Given the description of an element on the screen output the (x, y) to click on. 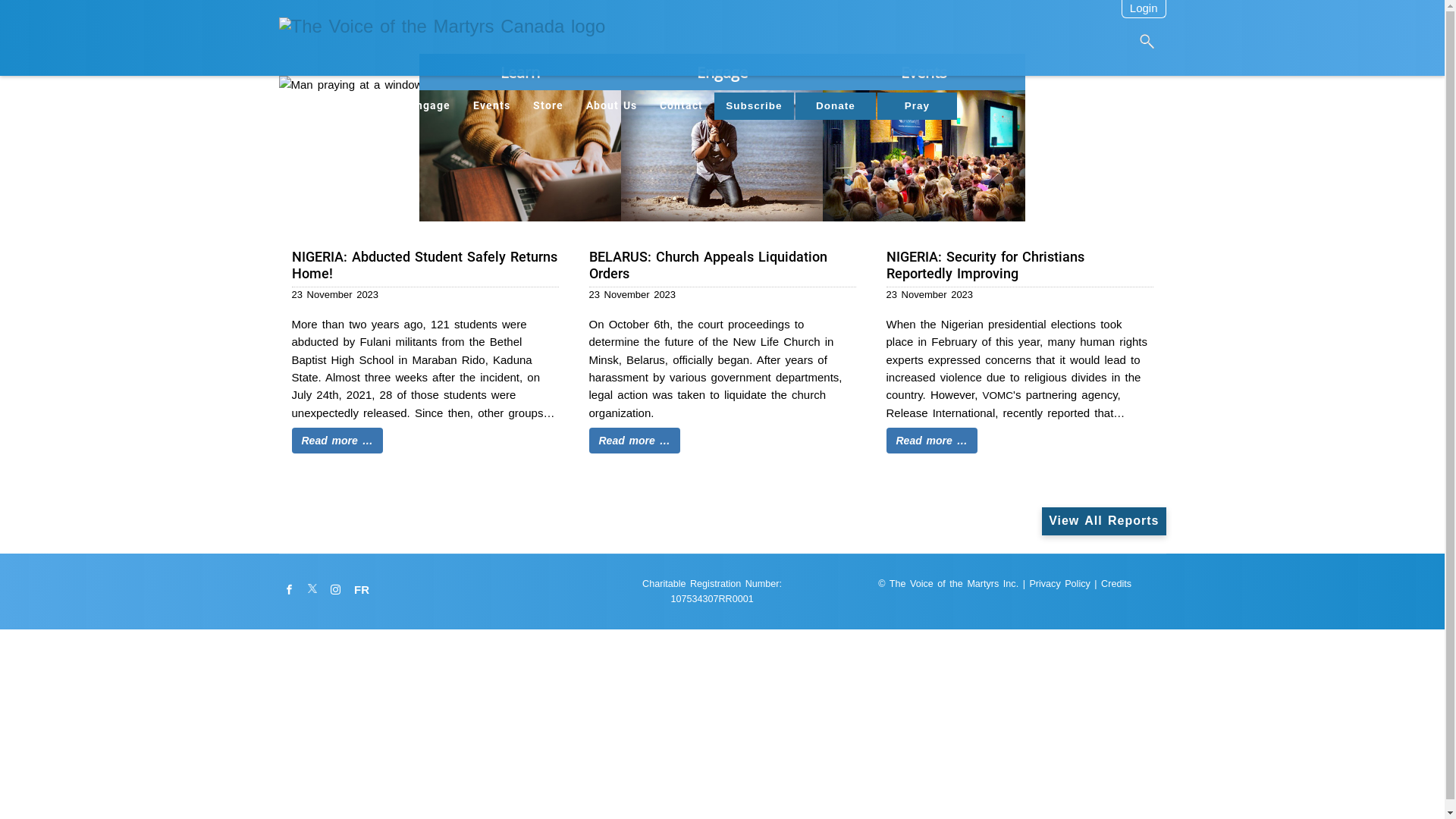
Events Element type: text (490, 105)
Church Appeals Liquidation Orders Element type: text (721, 265)
Privacy Policy Element type: text (1059, 583)
Learn Element type: text (519, 137)
View All Reports Element type: text (1103, 521)
Credits Element type: text (1116, 583)
Events Element type: text (923, 137)
Man praying at a window Element type: hover (722, 84)
Abducted Student Safely Returns Home! Element type: text (424, 265)
Global Persecution Element type: text (331, 105)
Security for Christians Reportedly Improving Element type: text (1018, 265)
Donate Element type: text (835, 105)
Contact Element type: text (680, 105)
Pray Element type: text (917, 105)
Subscribe Element type: text (754, 105)
Login Element type: text (1143, 7)
Store Element type: text (547, 105)
Engage Element type: text (429, 105)
Engage Element type: text (721, 137)
About Us Element type: text (611, 105)
